Given the description of an element on the screen output the (x, y) to click on. 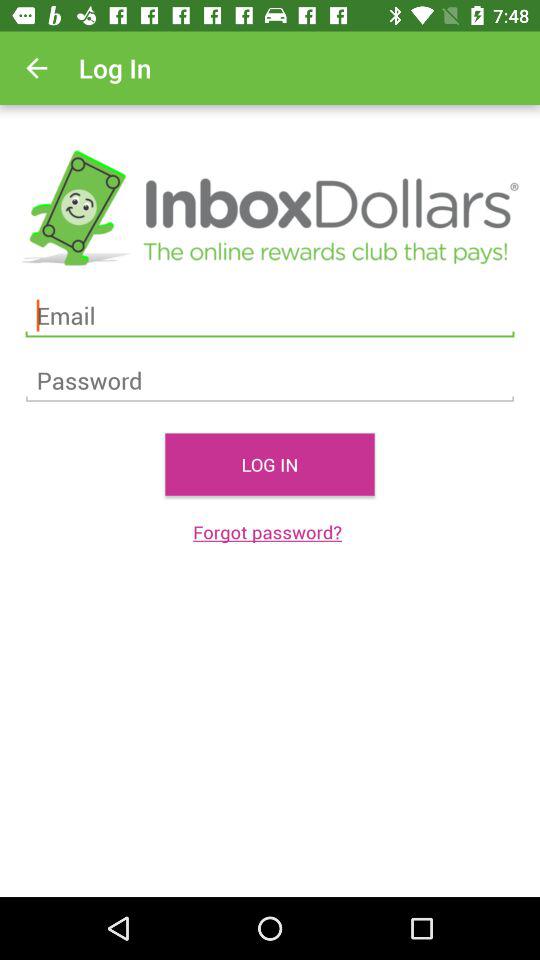
swipe to the forgot password?  icon (269, 532)
